Given the description of an element on the screen output the (x, y) to click on. 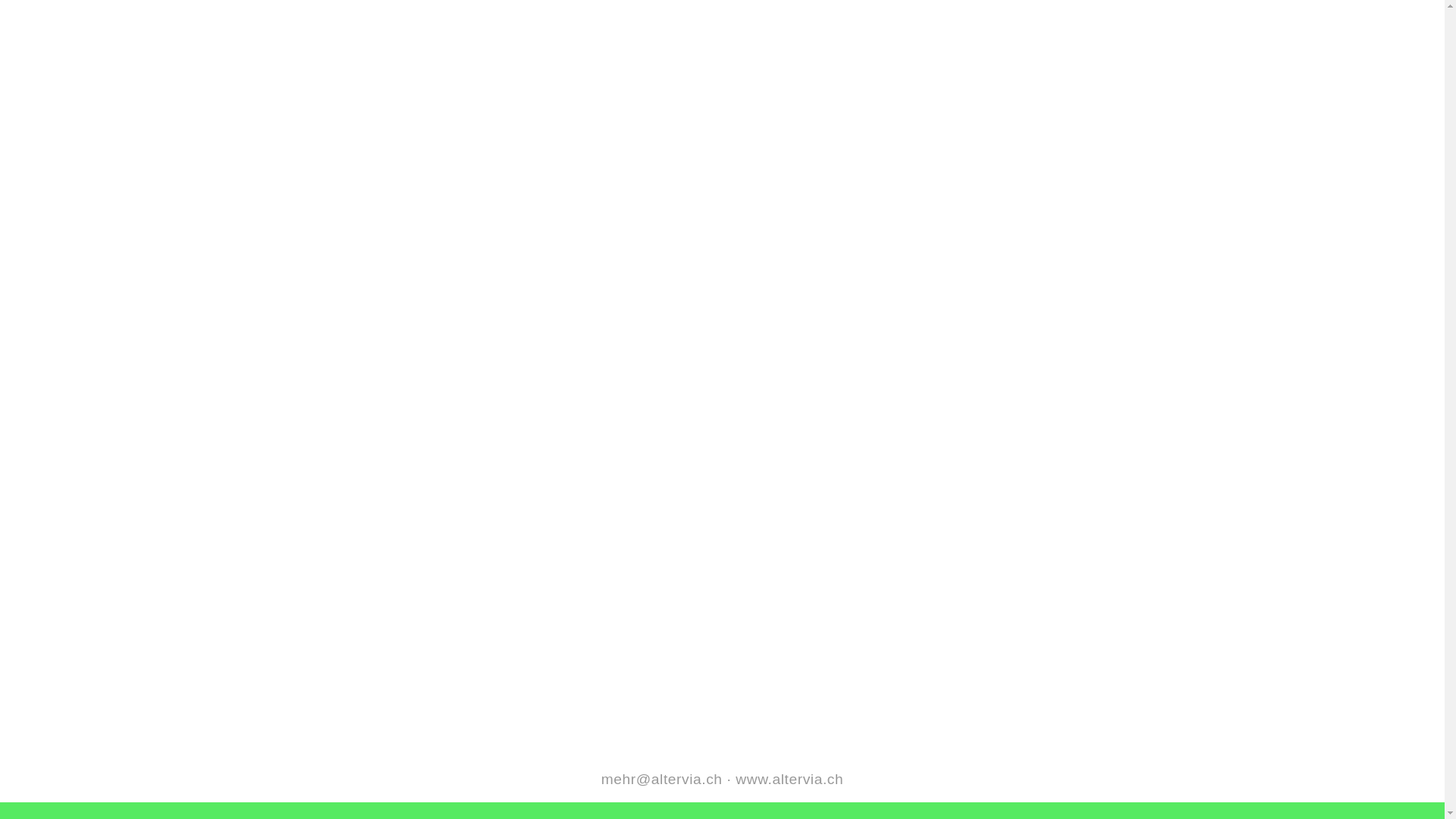
mehr@altervia.ch Element type: text (661, 779)
